Given the description of an element on the screen output the (x, y) to click on. 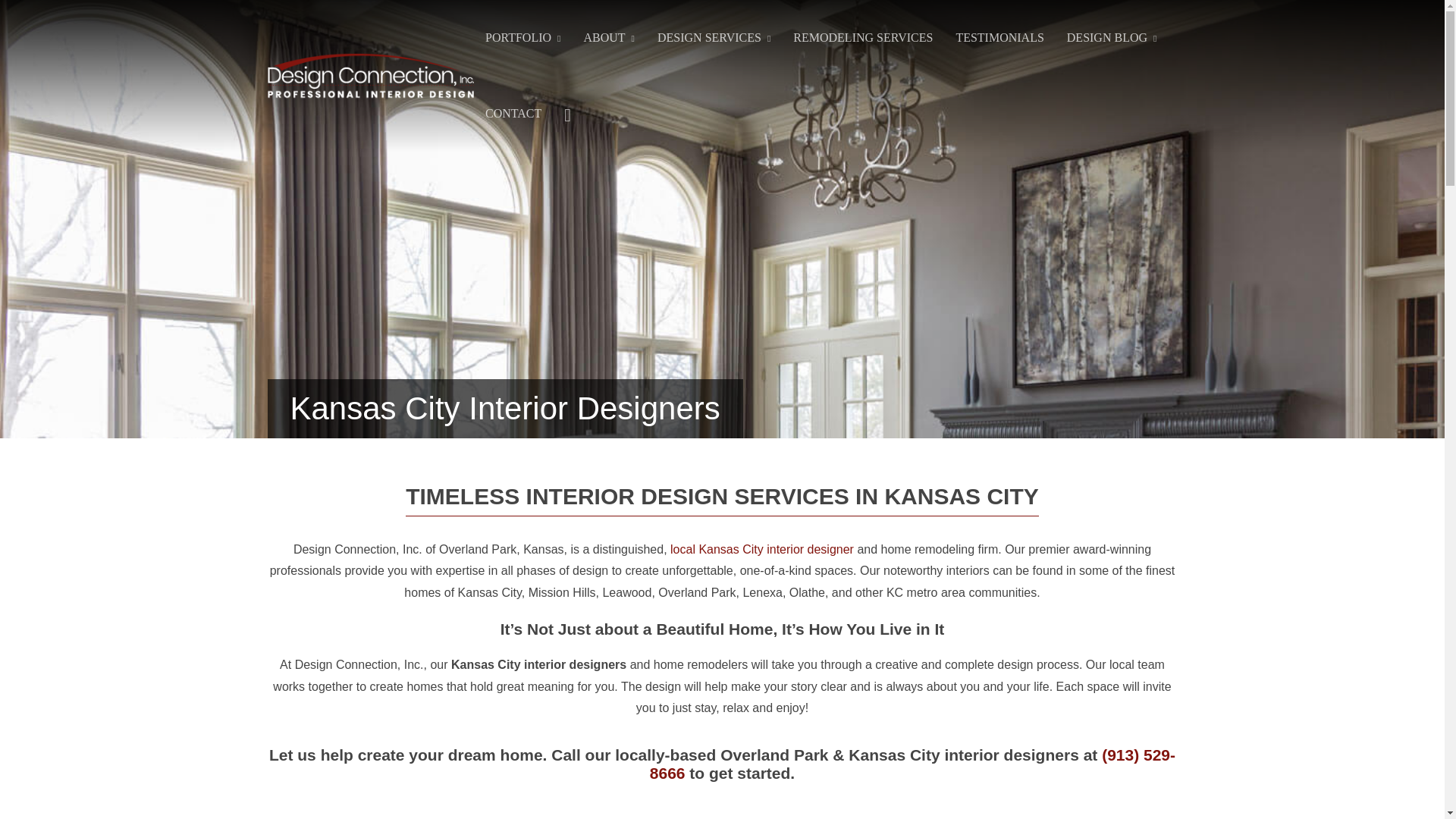
REMODELING SERVICES (863, 38)
DESIGN SERVICES (714, 38)
PORTFOLIO (522, 38)
